Given the description of an element on the screen output the (x, y) to click on. 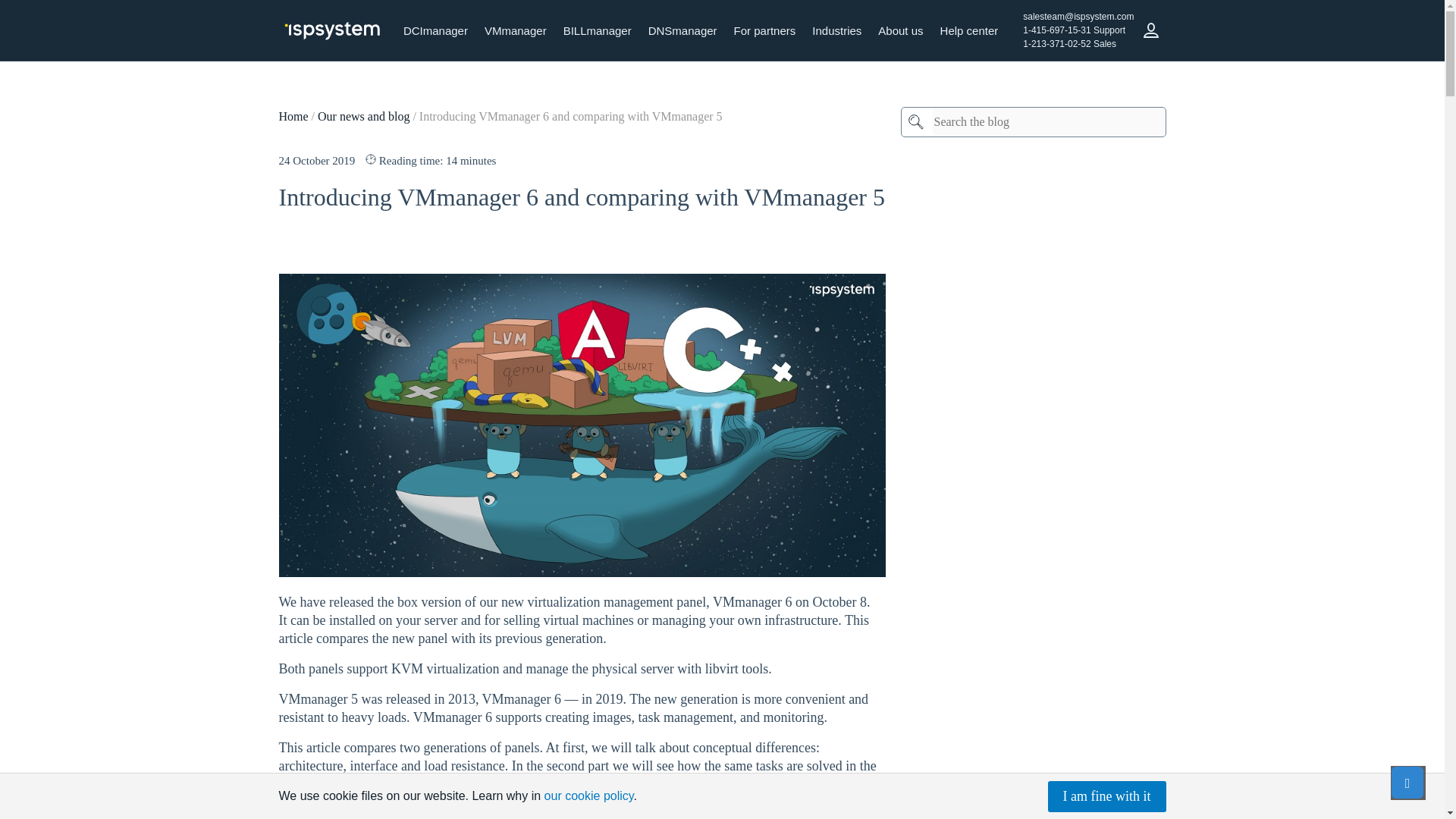
BILLmanager (597, 30)
For partners (765, 30)
Industries (836, 30)
DCImanager (435, 30)
VMmanager (515, 30)
DNSmanager (682, 30)
